Given the description of an element on the screen output the (x, y) to click on. 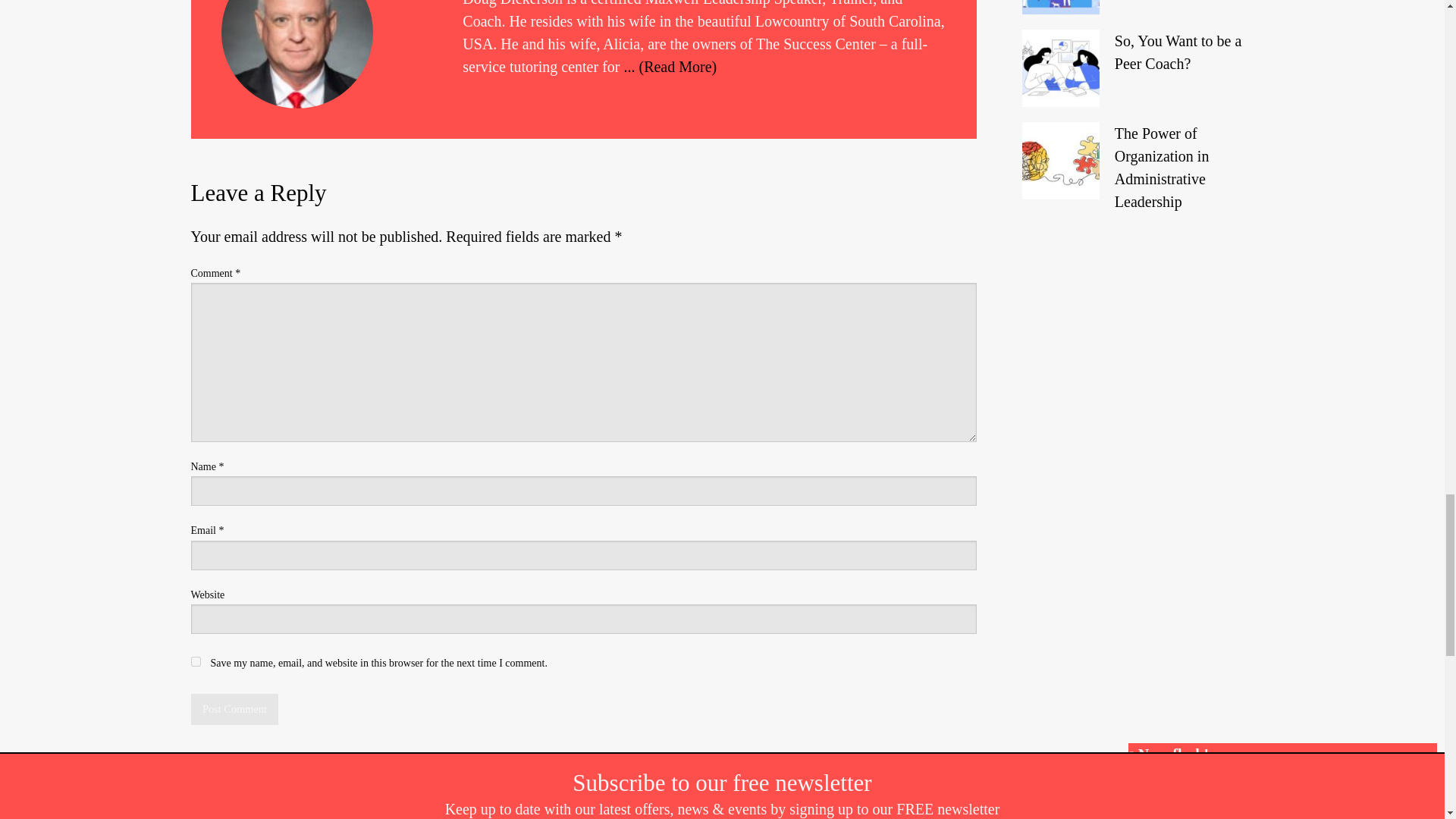
yes (195, 661)
Post Comment (234, 708)
